Given the description of an element on the screen output the (x, y) to click on. 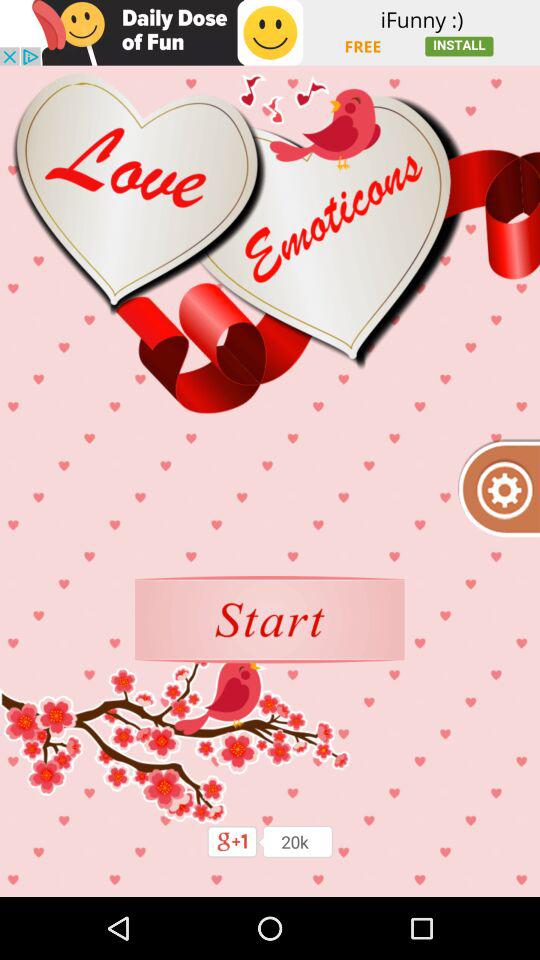
go to settings option (498, 487)
